Given the description of an element on the screen output the (x, y) to click on. 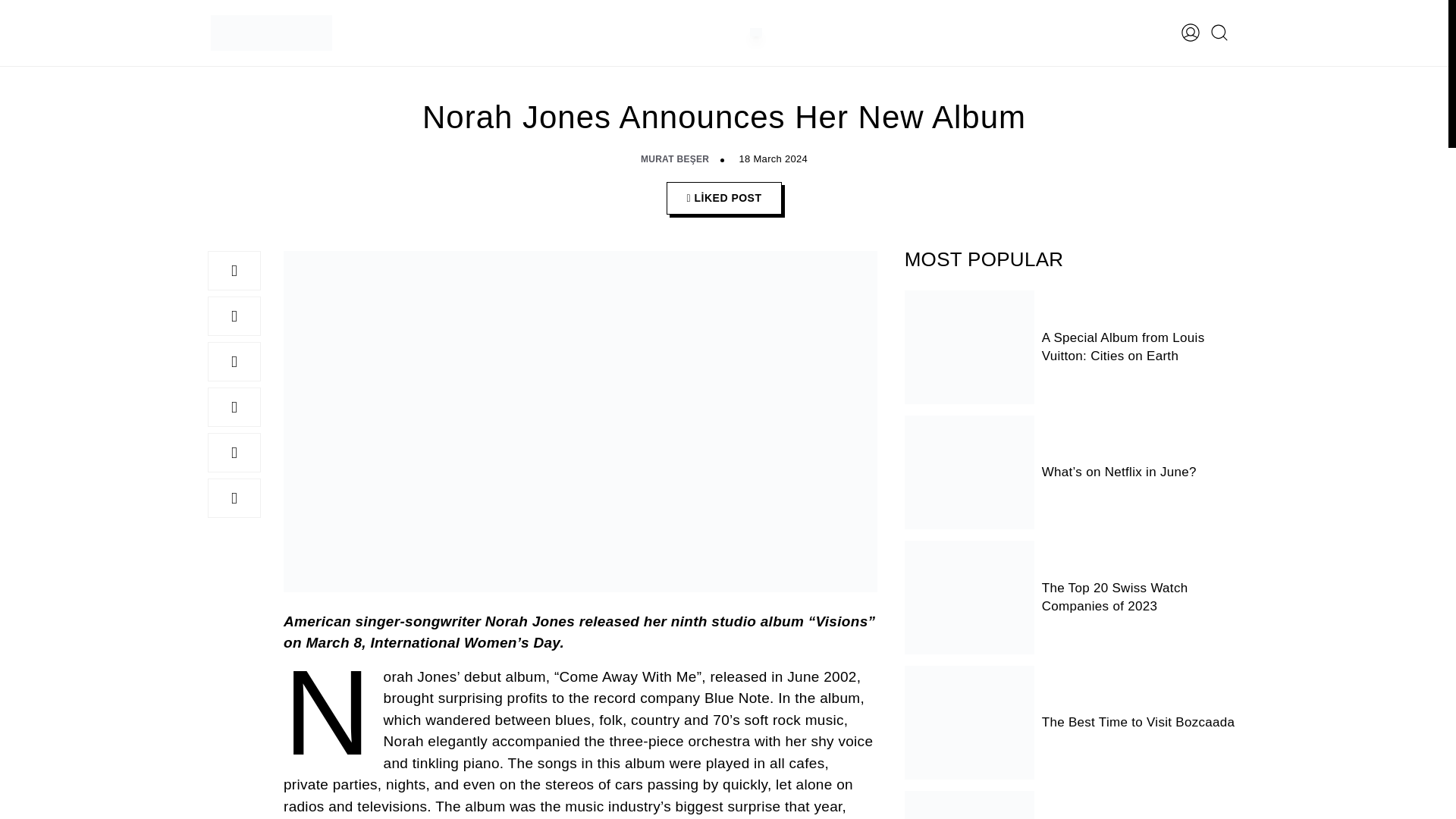
Norah Jones Announces Her New Album (234, 452)
Norah Jones Announces Her New Album (234, 497)
Norah Jones Announces Her New Album (234, 315)
Norah Jones Announces Her New Album (234, 361)
Norah Jones Announces Her New Album (234, 406)
Norah Jones Announces Her New Album (234, 270)
